Given the description of an element on the screen output the (x, y) to click on. 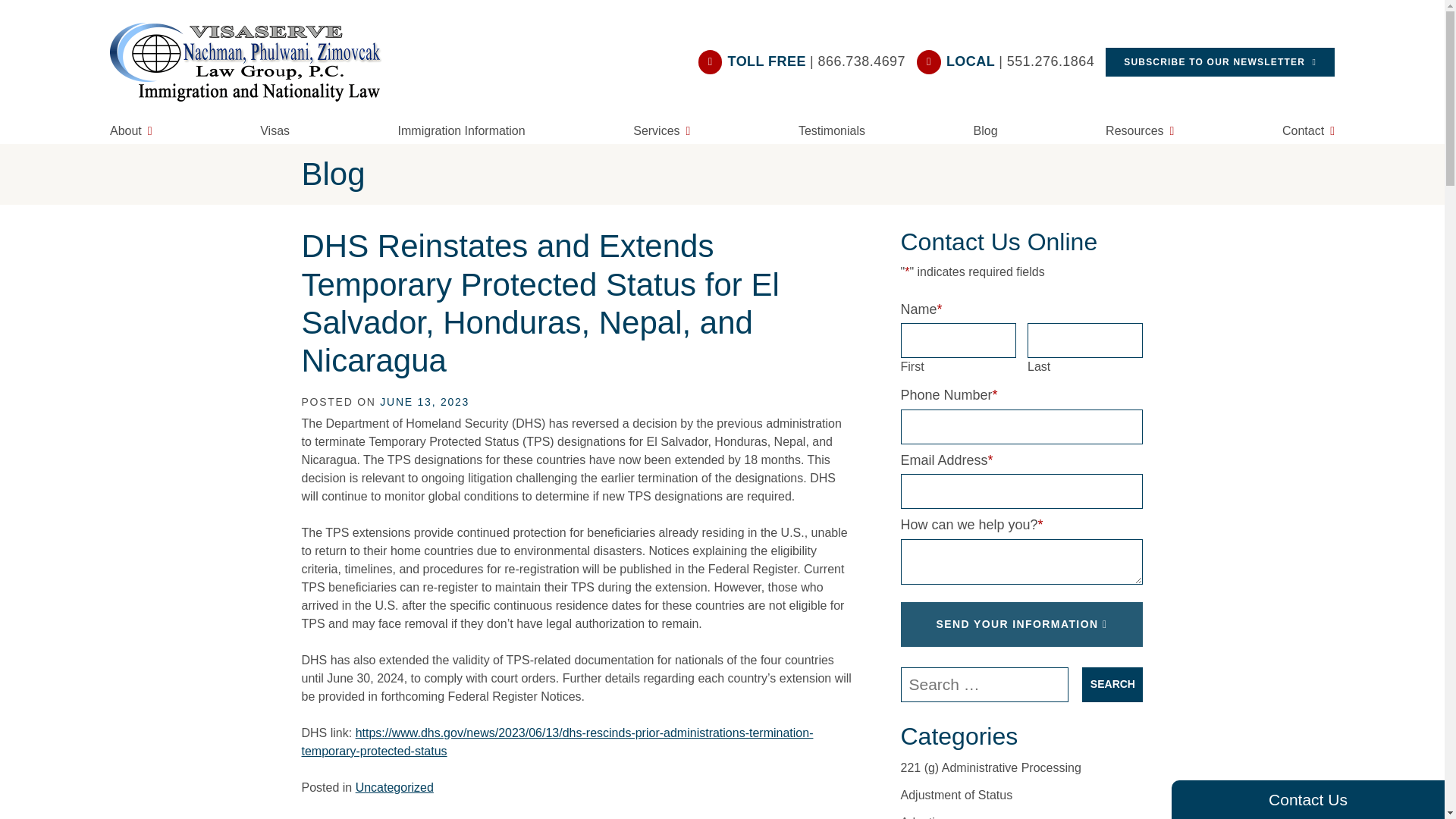
SUBSCRIBE TO OUR NEWSLETTER (1220, 61)
Immigration Information (461, 128)
Contact (1308, 128)
Search for: (984, 684)
Resources (1139, 128)
Services (661, 128)
Search (1111, 684)
Visas (274, 128)
Return home (254, 61)
Search (1111, 684)
Testimonials (830, 128)
About (130, 128)
Blog (986, 128)
